Given the description of an element on the screen output the (x, y) to click on. 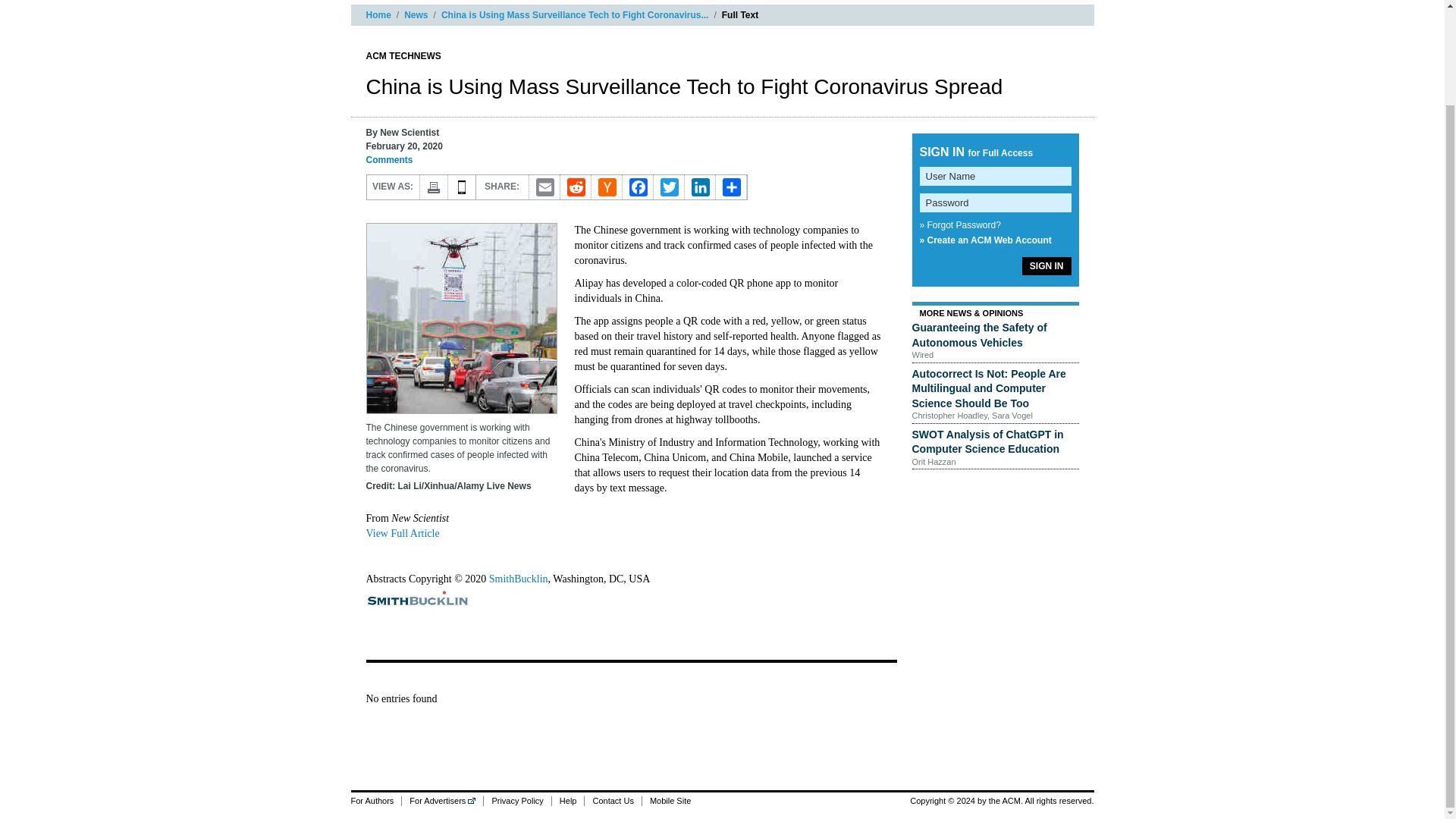
For Authors (375, 800)
Help (568, 800)
For Advertisers (442, 800)
Contact Us (611, 800)
Privacy Policy (516, 800)
Print (434, 187)
MOBILE APPS (461, 187)
